Given the description of an element on the screen output the (x, y) to click on. 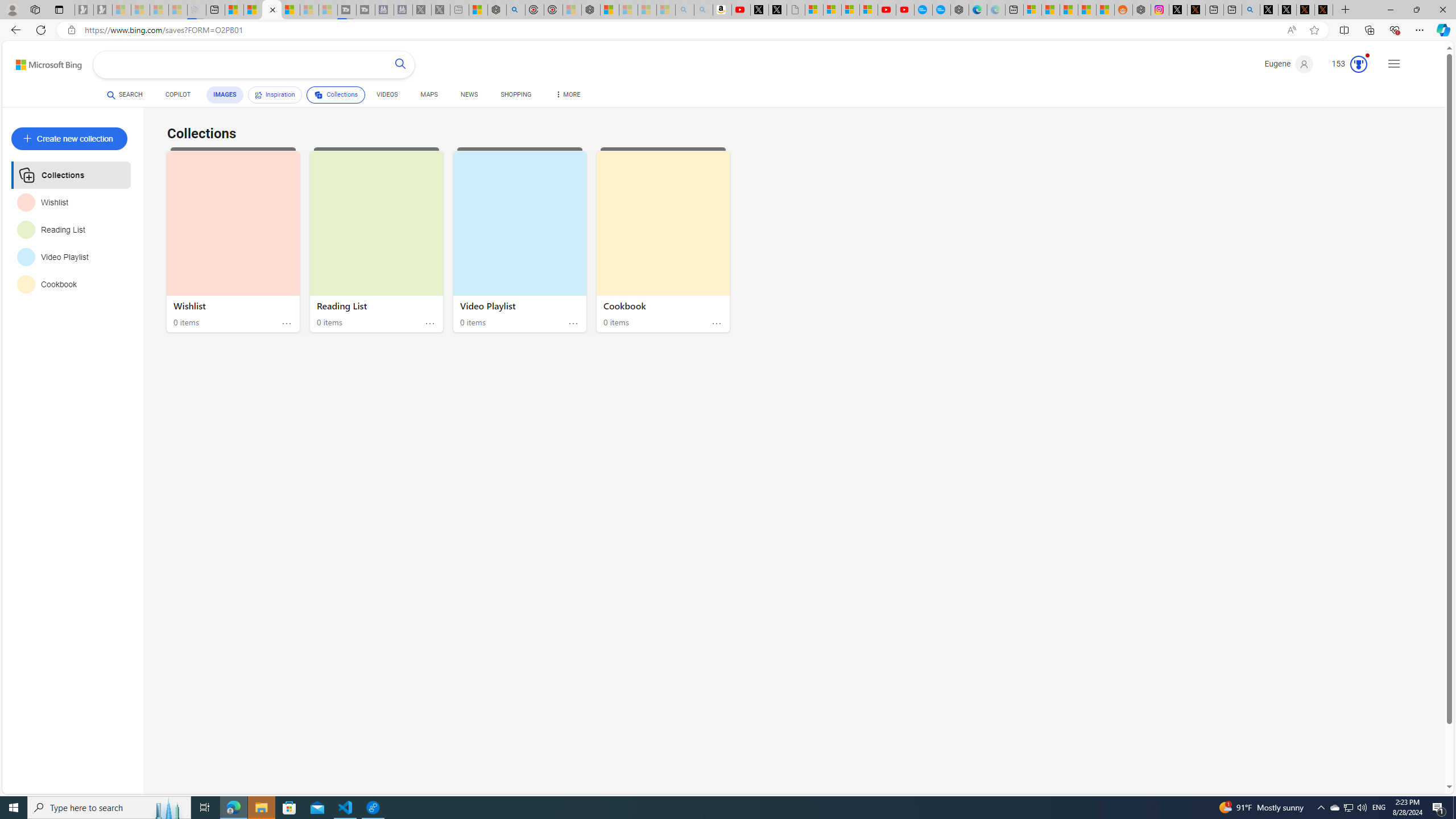
poe - Search (515, 9)
MAPS (428, 96)
Dropdown Menu (567, 94)
github - Search (1251, 9)
VIDEOS (386, 94)
IMAGES (224, 94)
